Given the description of an element on the screen output the (x, y) to click on. 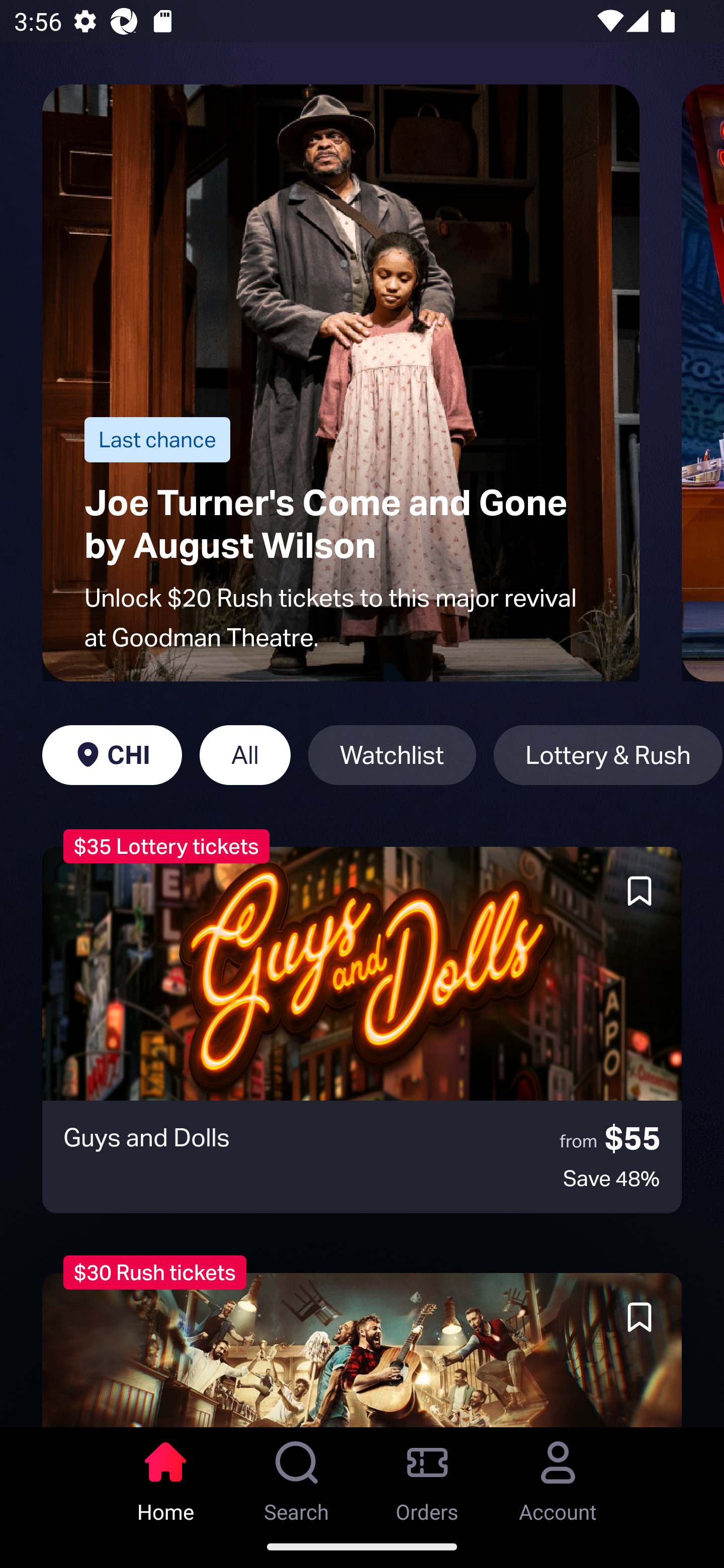
CHI (111, 754)
All (244, 754)
Watchlist (392, 754)
Lottery & Rush (607, 754)
Guys and Dolls from $55 Save 48% (361, 1029)
Search (296, 1475)
Orders (427, 1475)
Account (558, 1475)
